Given the description of an element on the screen output the (x, y) to click on. 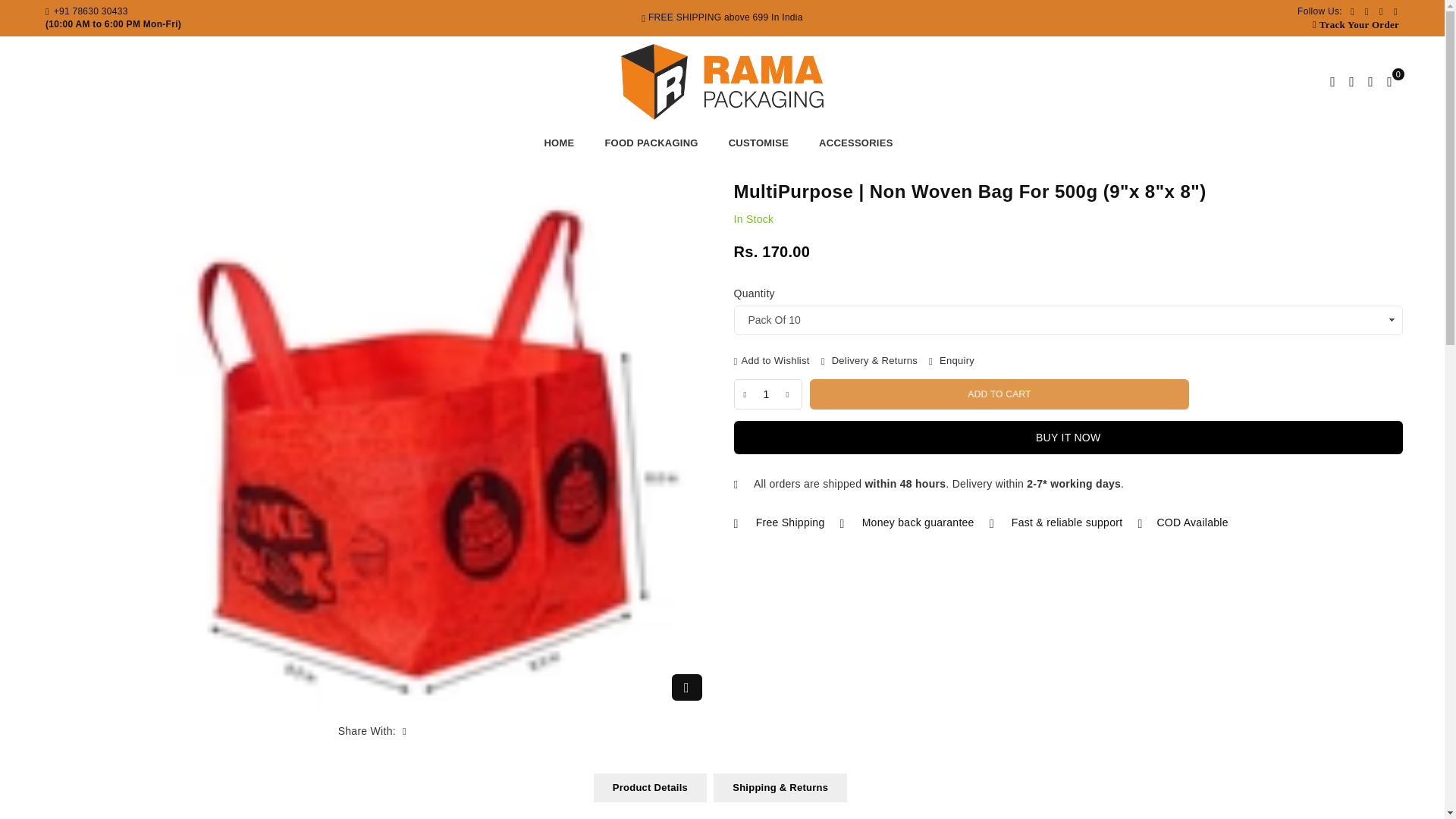
Rama Packaging on Instagram (1381, 11)
Rama Packaging on Facebook (1352, 11)
Facebook (1352, 11)
YouTube (1396, 11)
Instagram (1381, 11)
FOOD PACKAGING (650, 142)
Track Your Order (1359, 24)
Rama Packaging on Pinterest (1366, 11)
Share on Facebook (404, 731)
Pinterest (1366, 11)
